Given the description of an element on the screen output the (x, y) to click on. 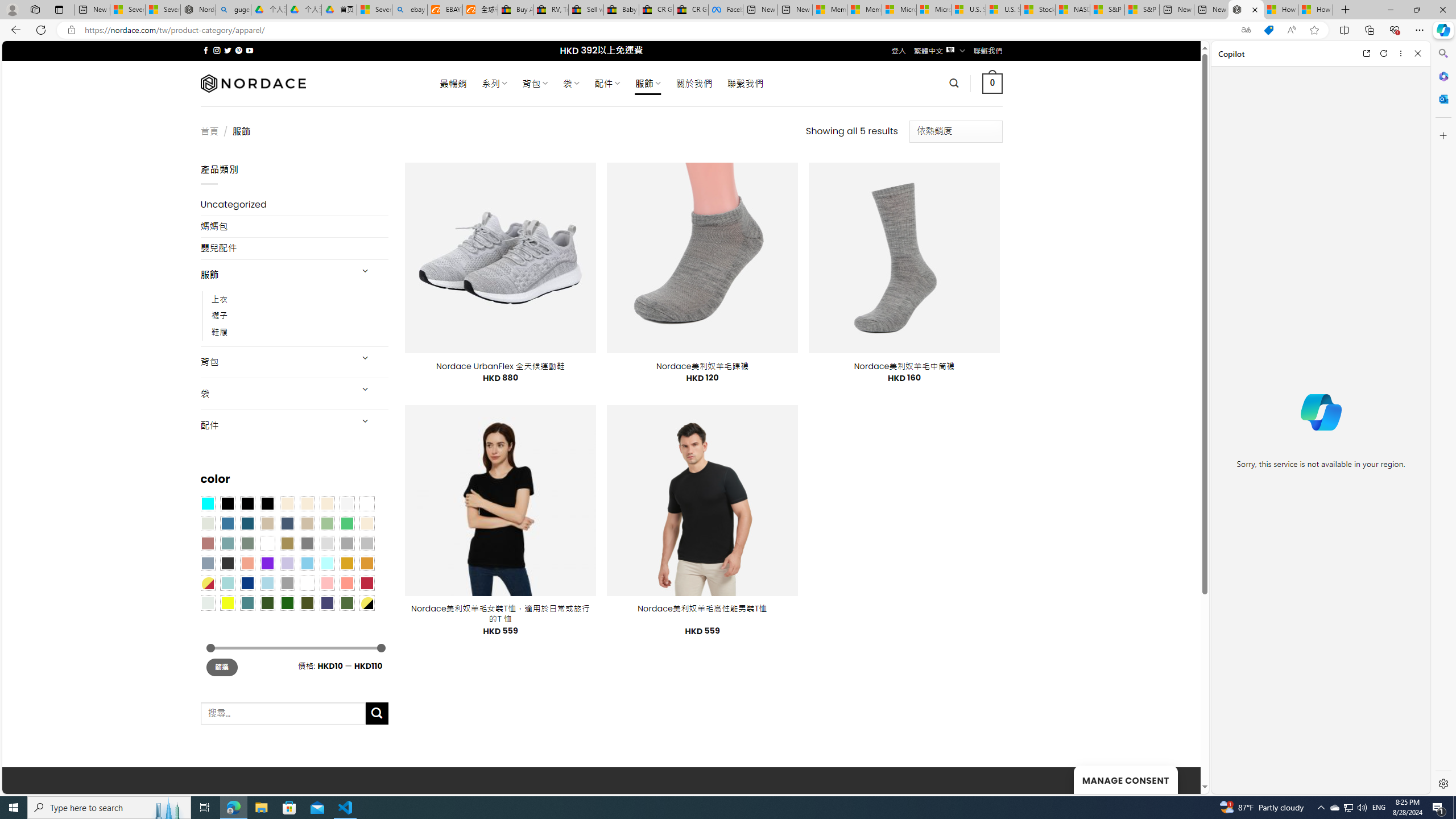
Settings (1442, 783)
Uncategorized (294, 204)
